Given the description of an element on the screen output the (x, y) to click on. 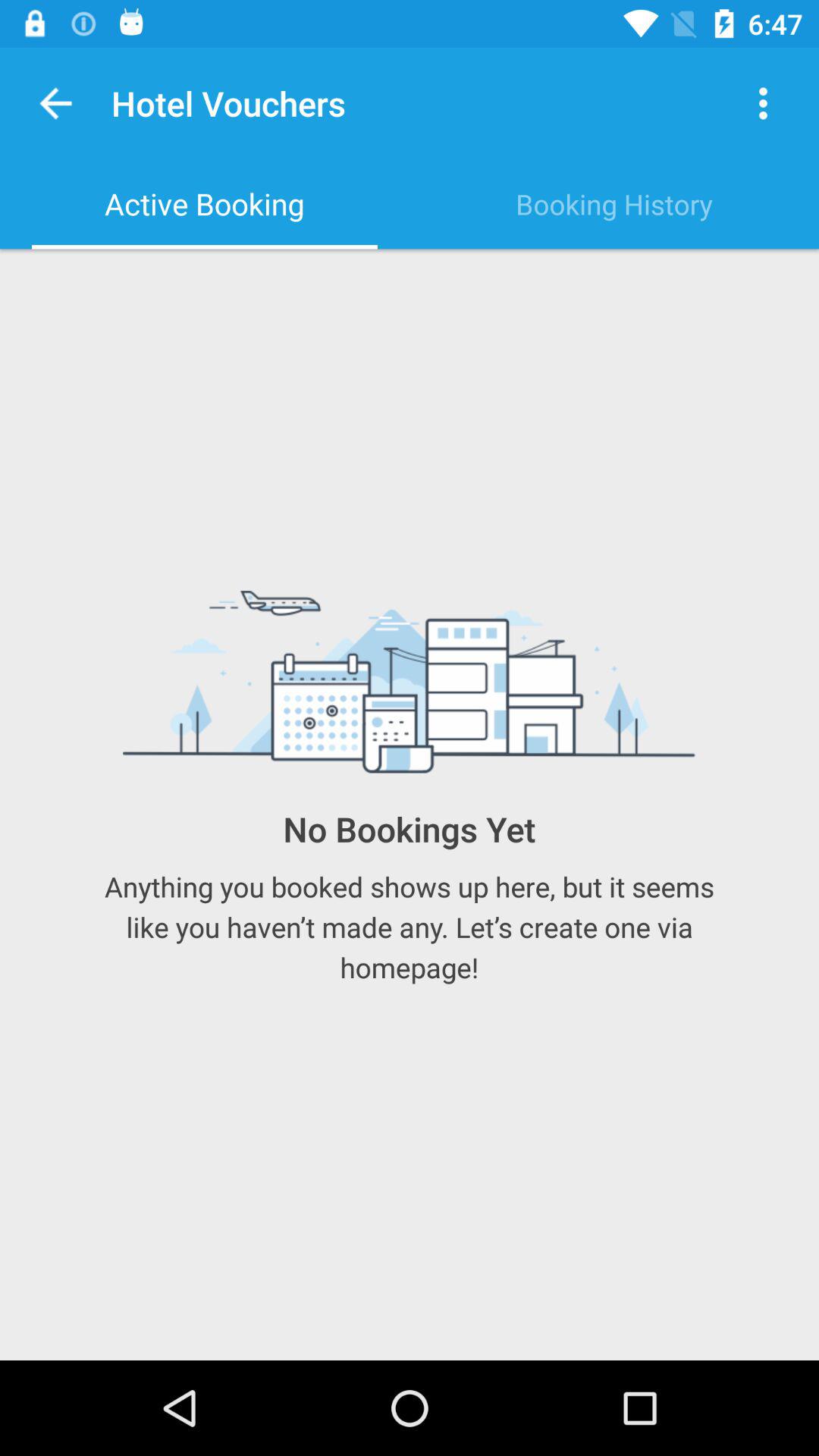
scroll to the active booking (204, 204)
